Given the description of an element on the screen output the (x, y) to click on. 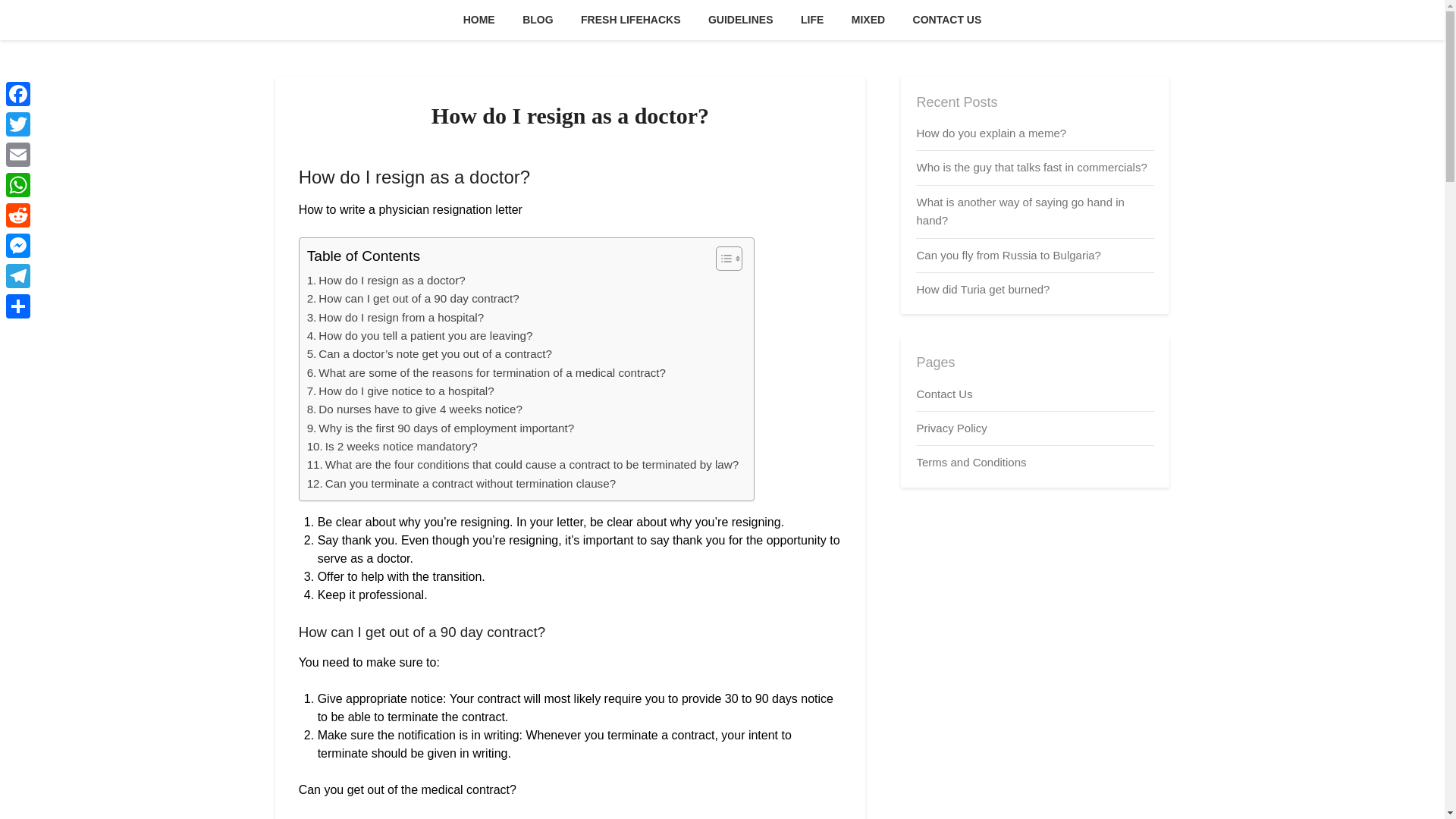
LIFE (812, 20)
How did Turia get burned? (982, 288)
BLOG (537, 20)
Can you terminate a contract without termination clause? (461, 484)
How do I resign as a doctor? (386, 280)
CONTACT US (947, 20)
What is another way of saying go hand in hand? (1019, 210)
Who is the guy that talks fast in commercials? (1031, 166)
How do I give notice to a hospital? (401, 391)
Is 2 weeks notice mandatory? (392, 446)
How do I resign from a hospital? (395, 317)
